Given the description of an element on the screen output the (x, y) to click on. 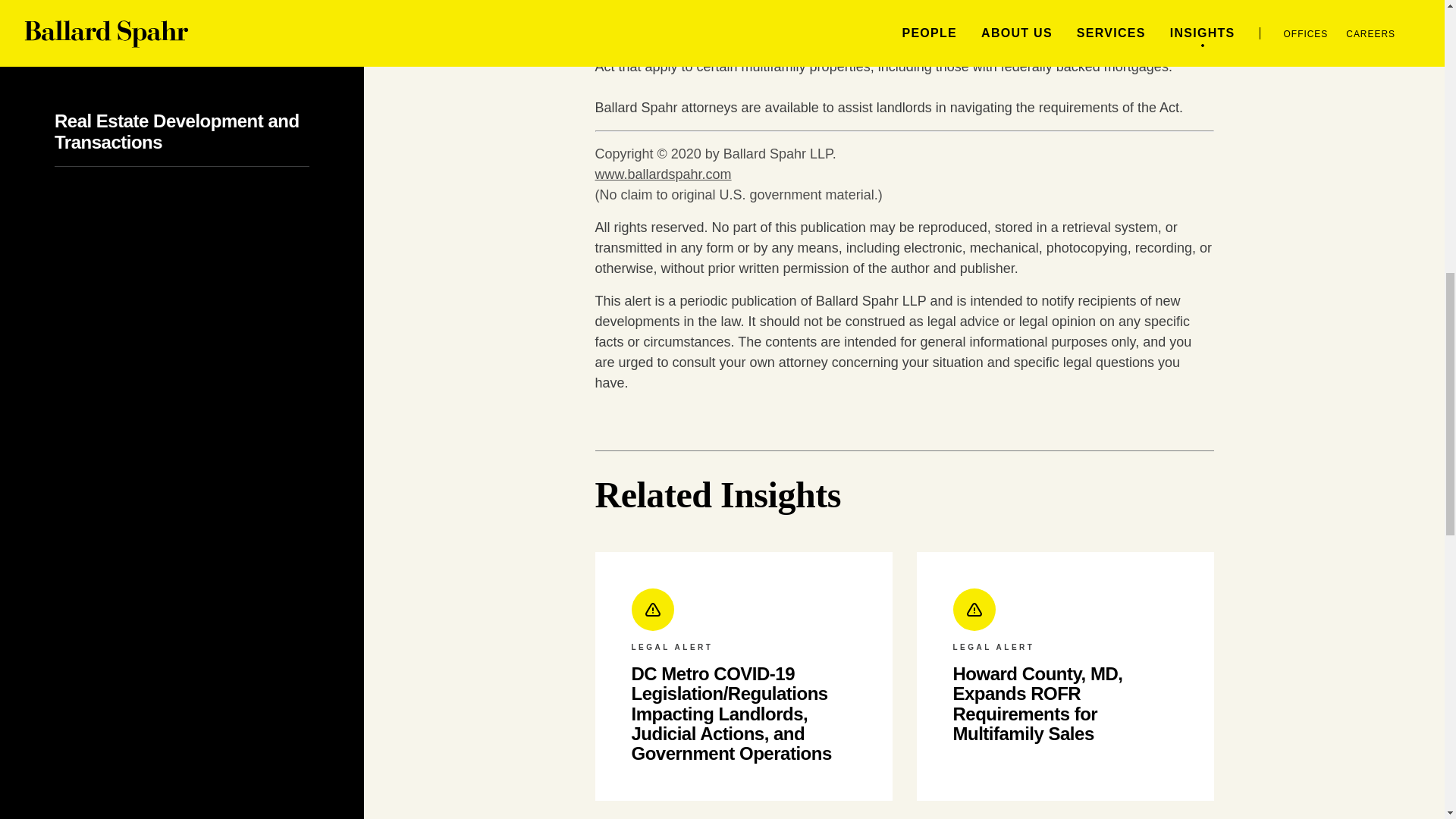
Real Estate Development and Transactions (177, 131)
Order No. 20-04-03-01 (716, 46)
www.ballardspahr.com (662, 174)
